Given the description of an element on the screen output the (x, y) to click on. 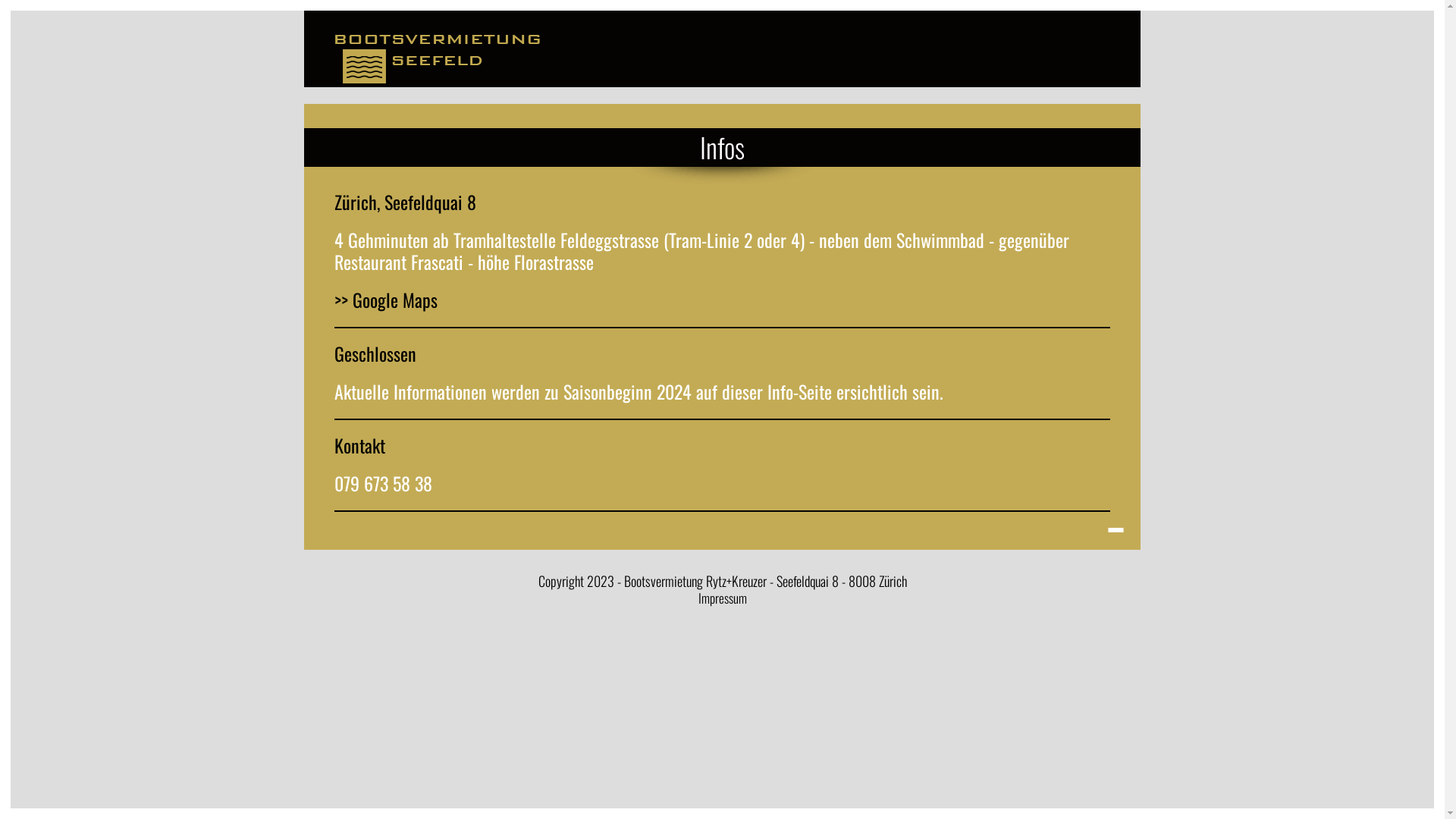
Impressum Element type: text (721, 597)
Bootsvermietung Seefeld Rytz+Kreuzer Element type: hover (437, 58)
Google Maps Element type: text (394, 298)
